Given the description of an element on the screen output the (x, y) to click on. 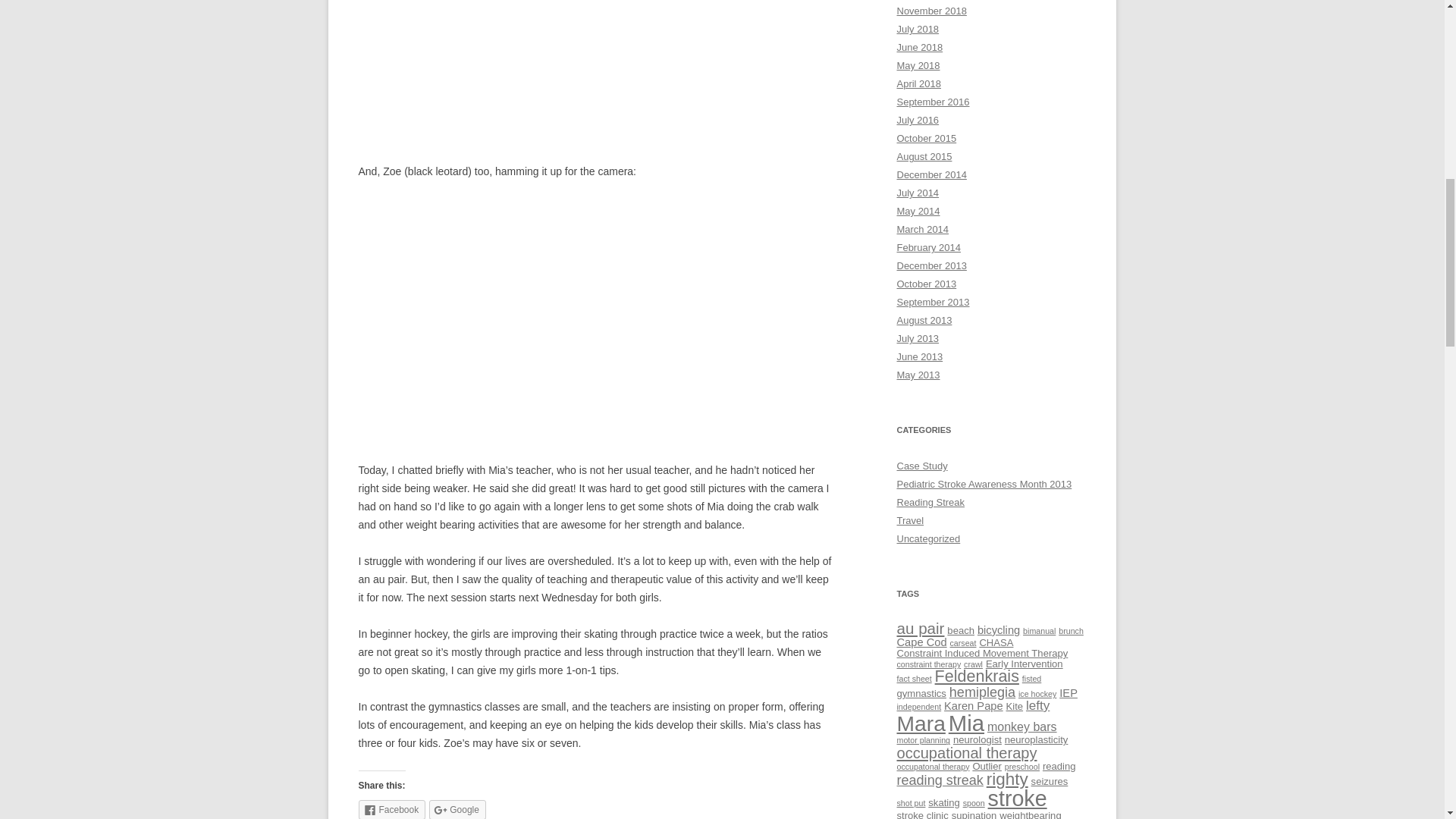
Google (457, 809)
Facebook (391, 809)
Click to share on Facebook (391, 809)
